Given the description of an element on the screen output the (x, y) to click on. 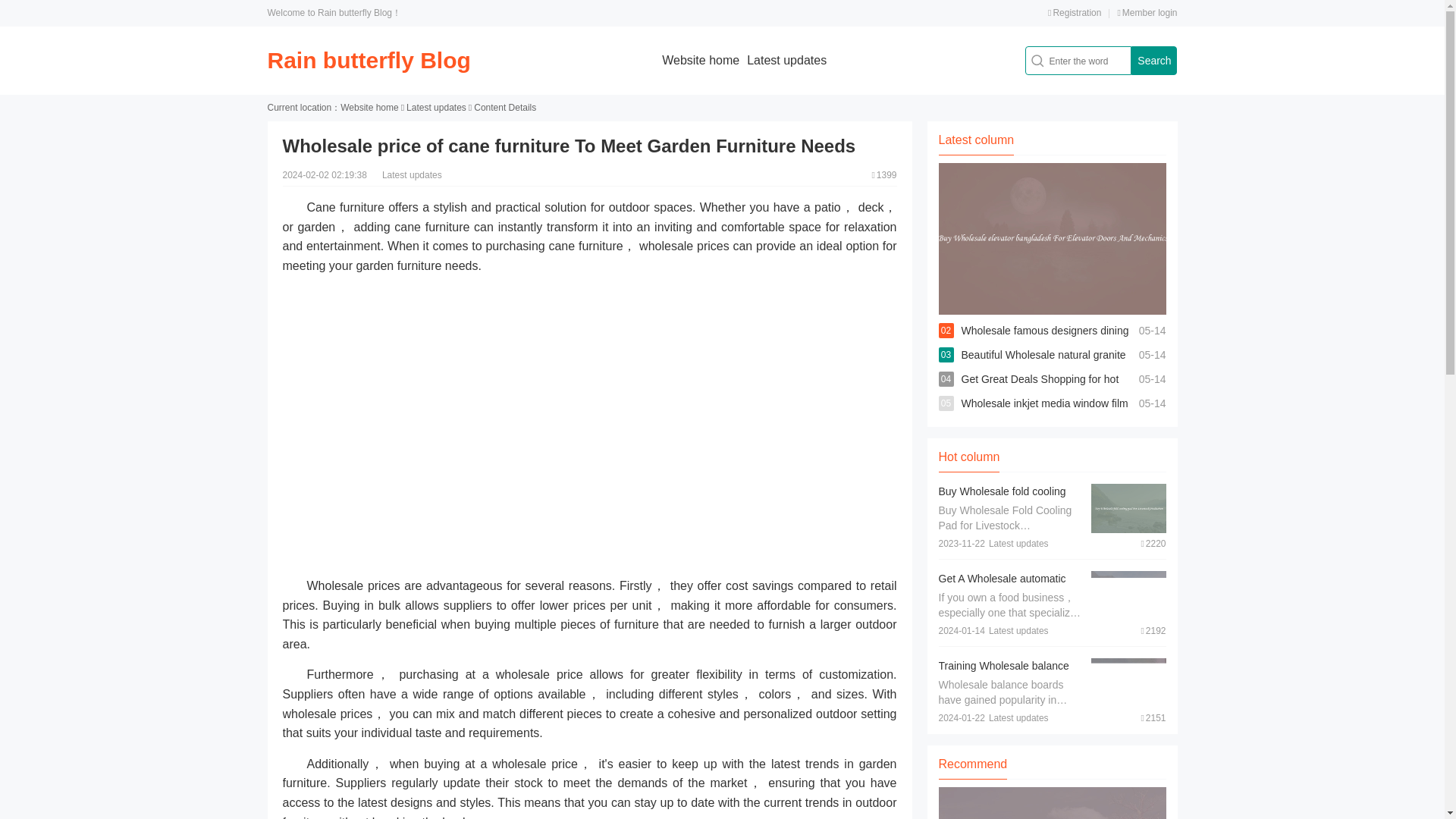
Registration (1074, 12)
Buy Wholesale fold cooling pad For Livestock Production (1007, 498)
Get Great Deals Shopping for hot air stainless (1039, 391)
Website home (700, 60)
Member login (1146, 12)
Latest updates (435, 107)
Latest updates (786, 60)
Rain butterfly Blog (368, 59)
Search (1153, 60)
Website home (368, 107)
